Given the description of an element on the screen output the (x, y) to click on. 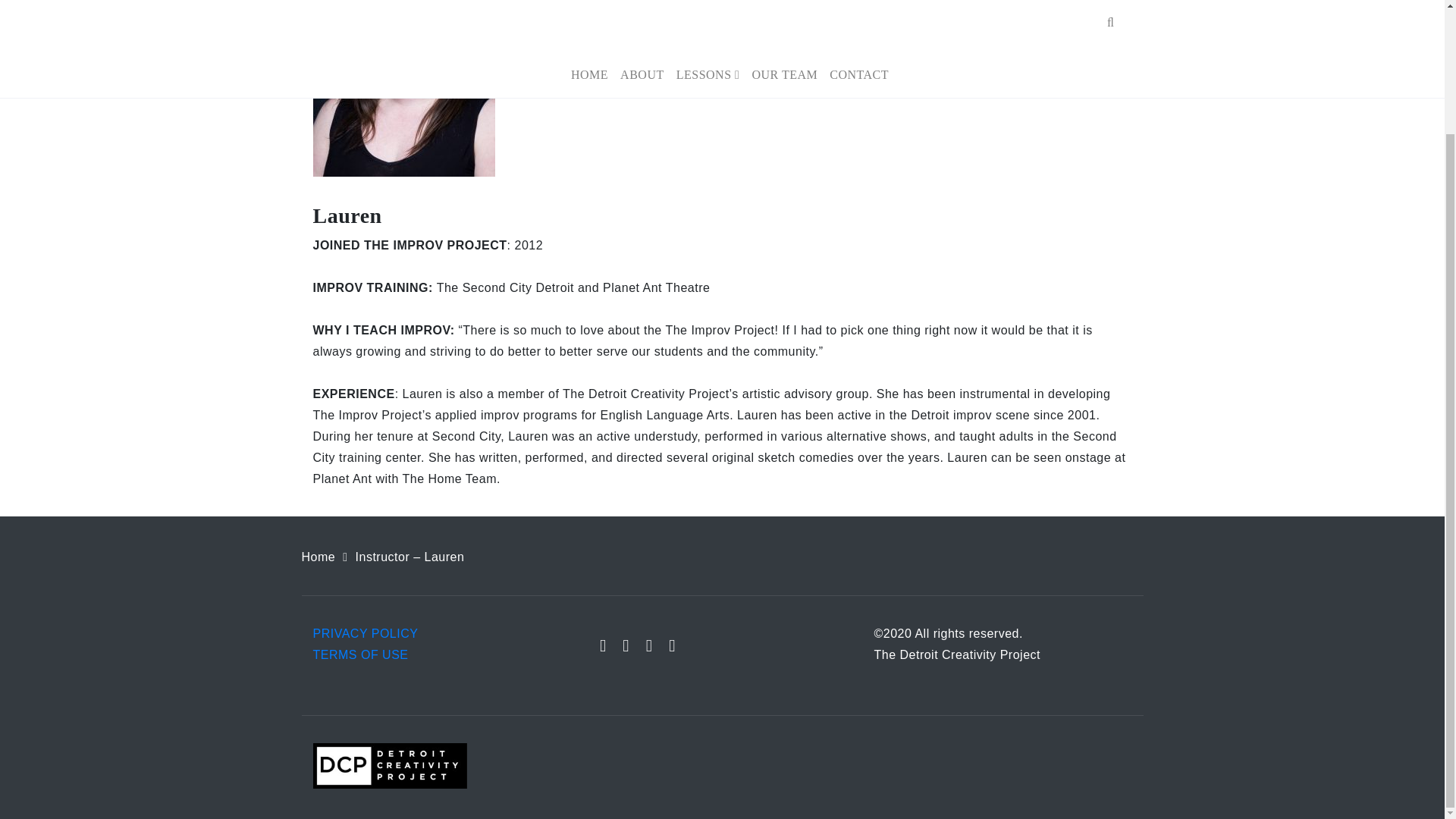
PRIVACY POLICY (365, 633)
Home (318, 556)
TERMS OF USE (360, 654)
